Given the description of an element on the screen output the (x, y) to click on. 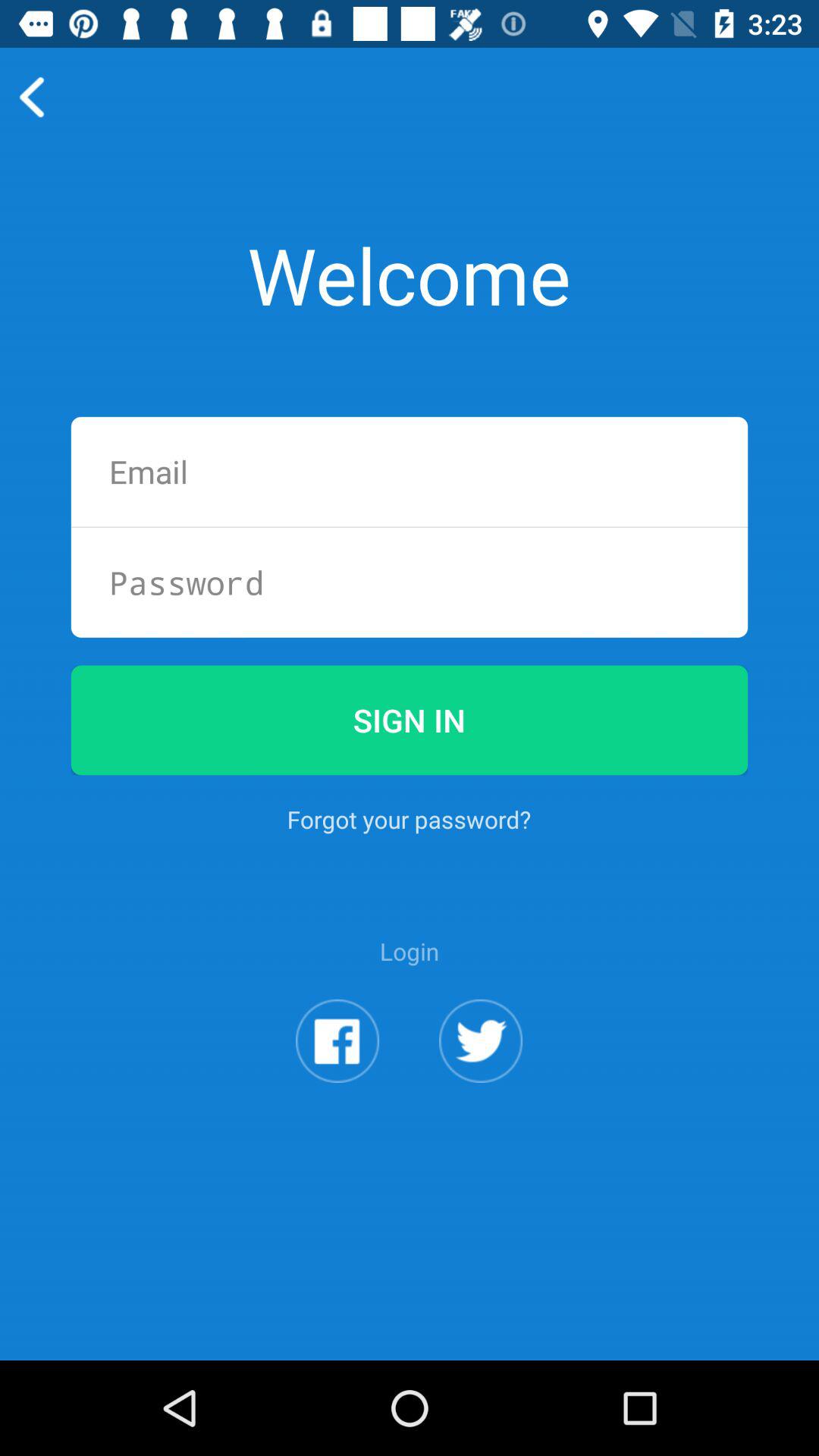
swipe until the forgot your password? app (409, 819)
